Given the description of an element on the screen output the (x, y) to click on. 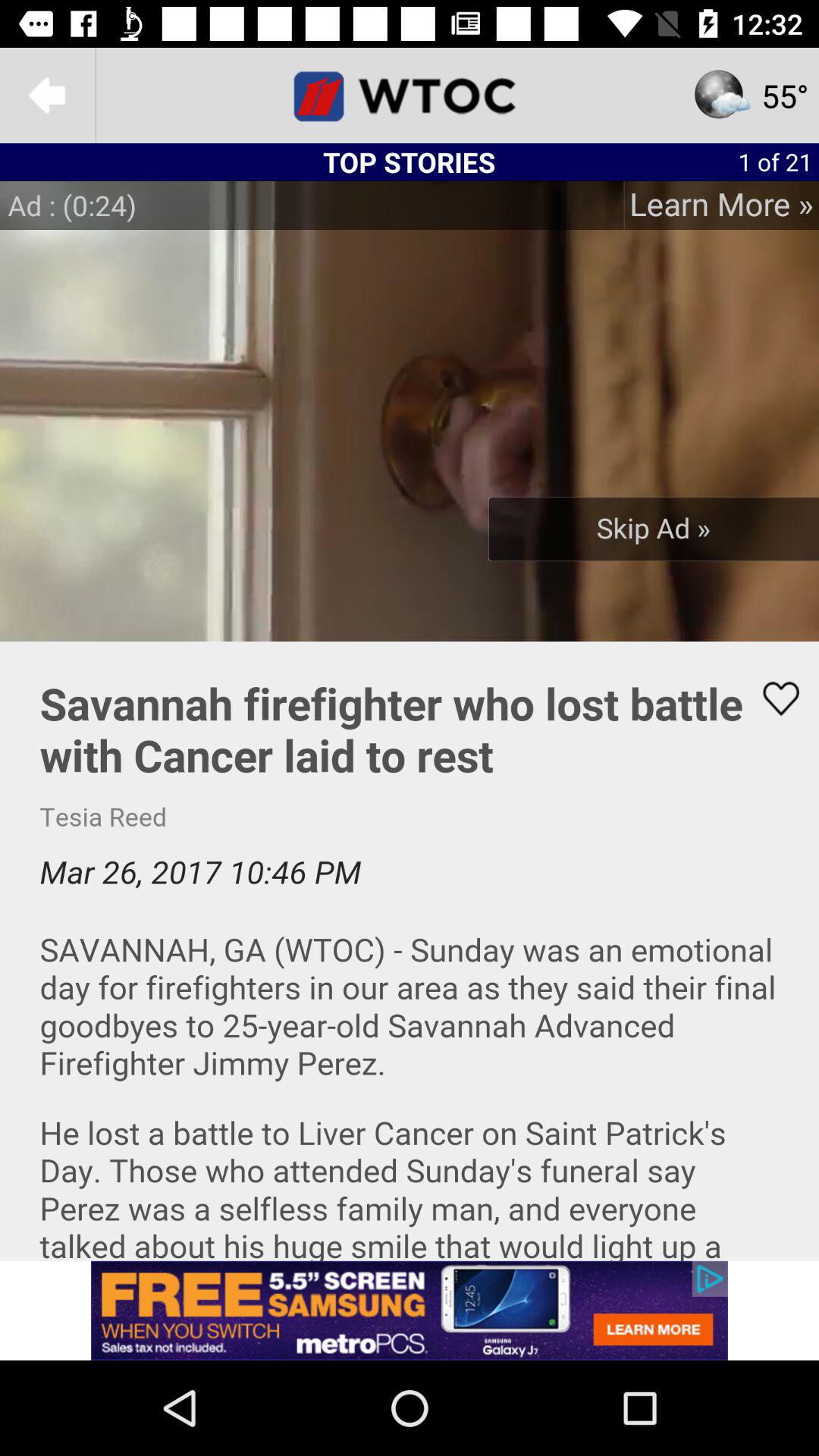
go home (409, 95)
